Given the description of an element on the screen output the (x, y) to click on. 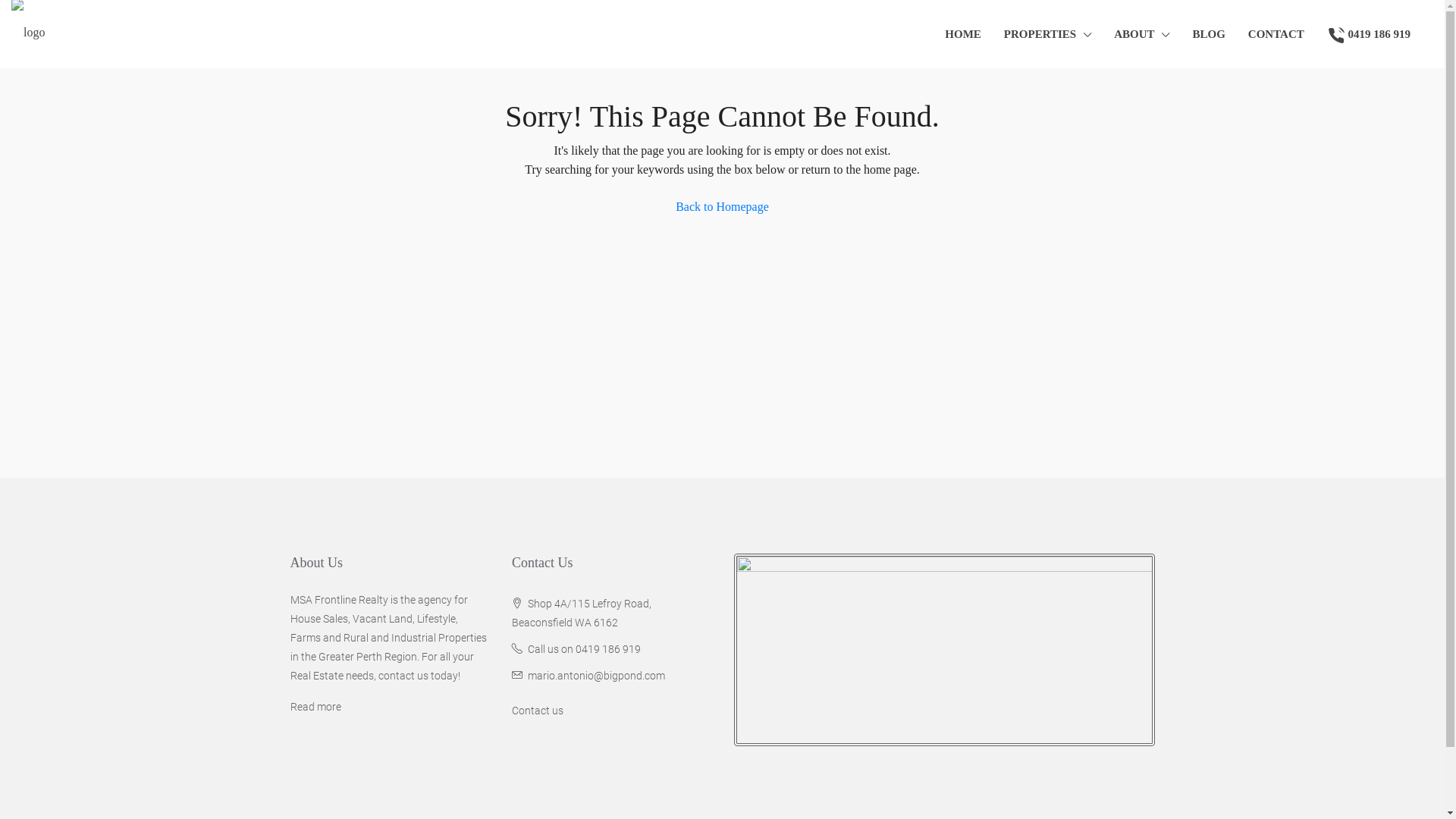
mario.antonio@bigpond.com Element type: text (596, 675)
CONTACT Element type: text (1275, 34)
HOME Element type: text (962, 34)
Back to Homepage Element type: text (722, 206)
Call us on 0419 186 919 Element type: text (583, 649)
Read more Element type: text (314, 706)
BLOG Element type: text (1208, 34)
ABOUT Element type: text (1141, 34)
PROPERTIES Element type: text (1047, 34)
0419 186 919 Element type: text (1368, 34)
Contact us Element type: text (537, 710)
